Given the description of an element on the screen output the (x, y) to click on. 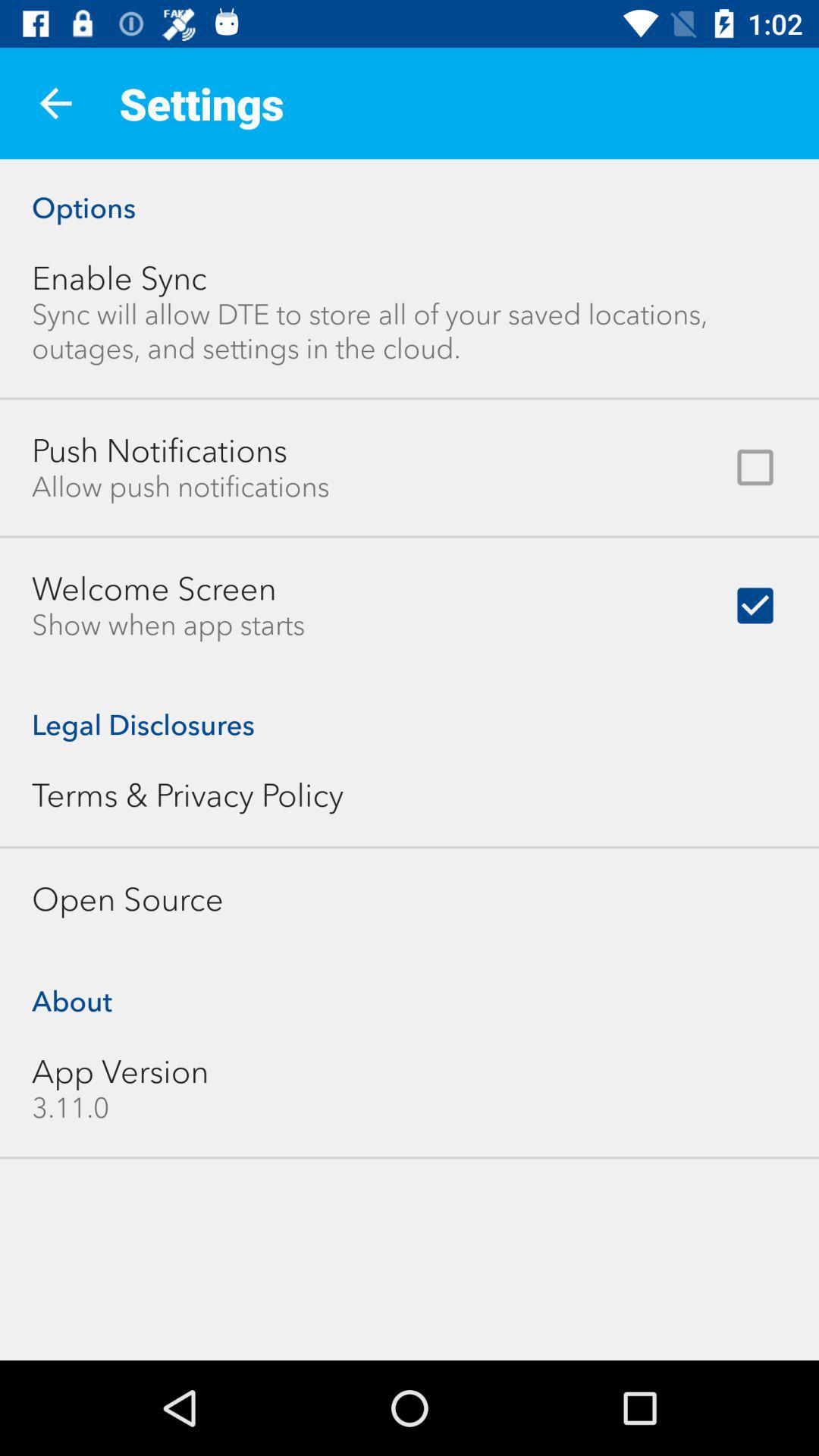
click icon below the open source icon (409, 985)
